Given the description of an element on the screen output the (x, y) to click on. 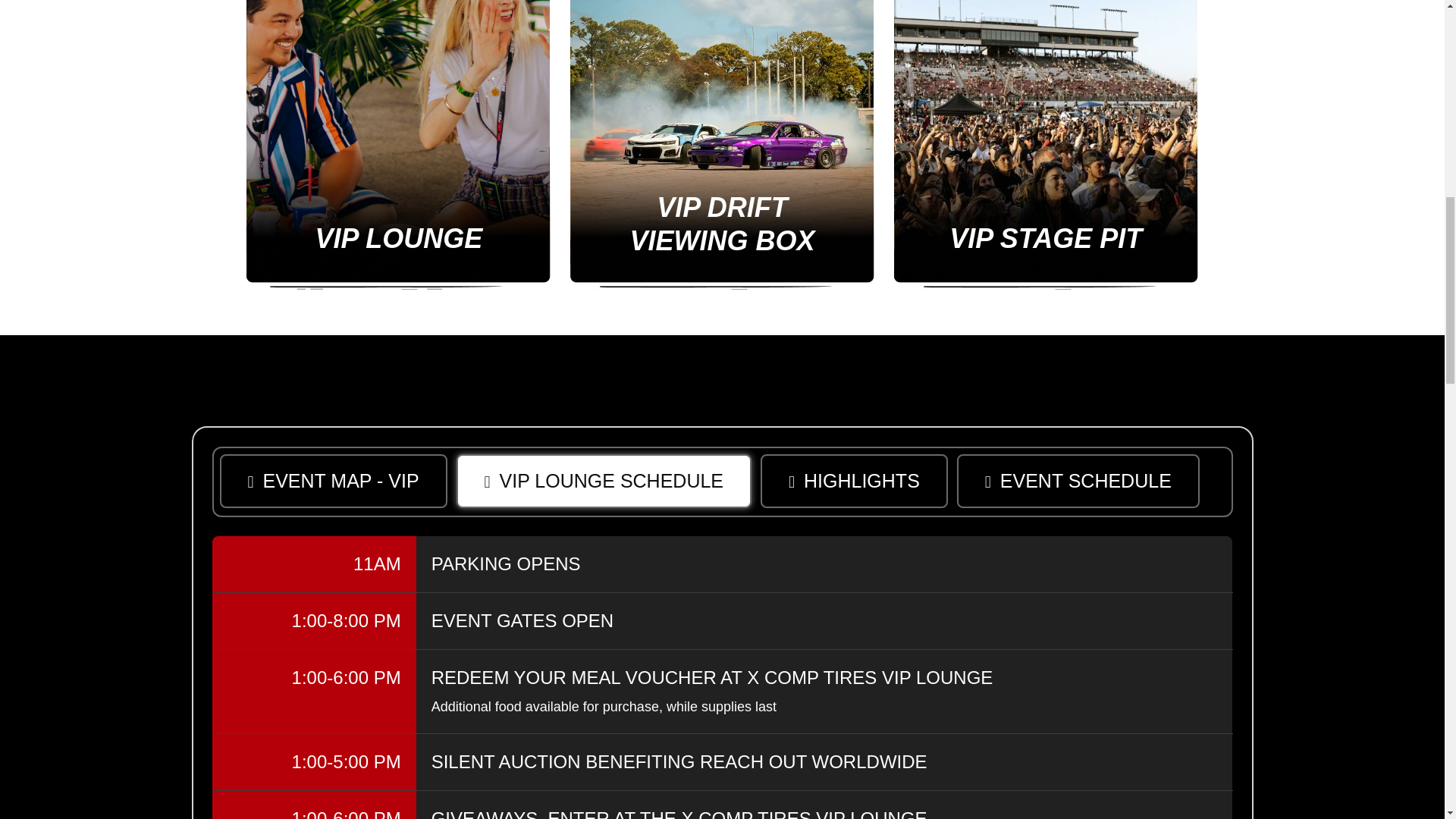
x-comp-vip-img (398, 144)
vip-stage-pit-img (1045, 144)
vip-drift (722, 144)
